Given the description of an element on the screen output the (x, y) to click on. 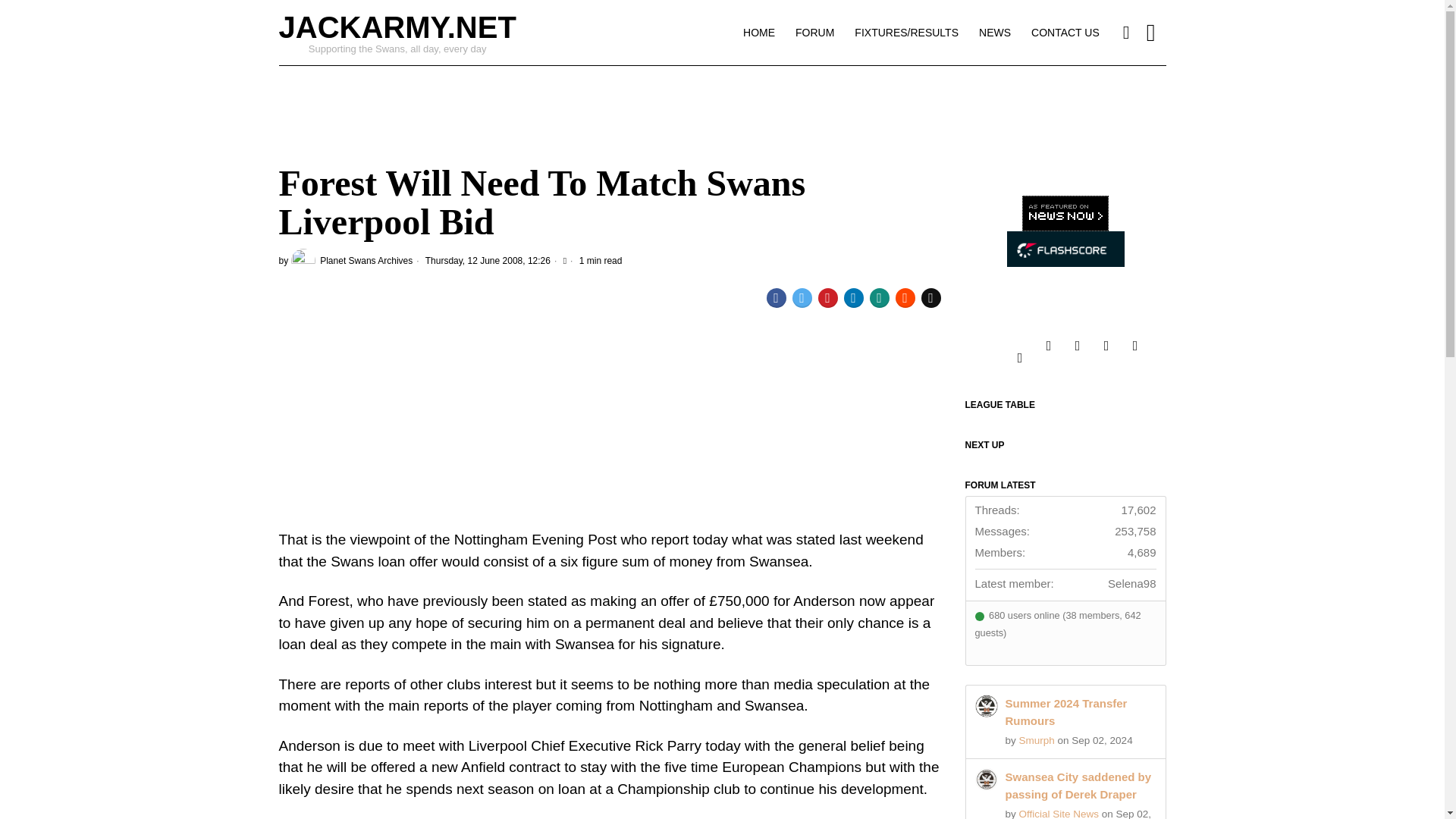
Planet Swans Archives (351, 260)
FORUM (815, 32)
HOME (759, 32)
12 Jun, 2008 12:00:26 (481, 260)
CONTACT US (1066, 32)
NEWS (995, 32)
JACKARMY.NET (397, 27)
